Given the description of an element on the screen output the (x, y) to click on. 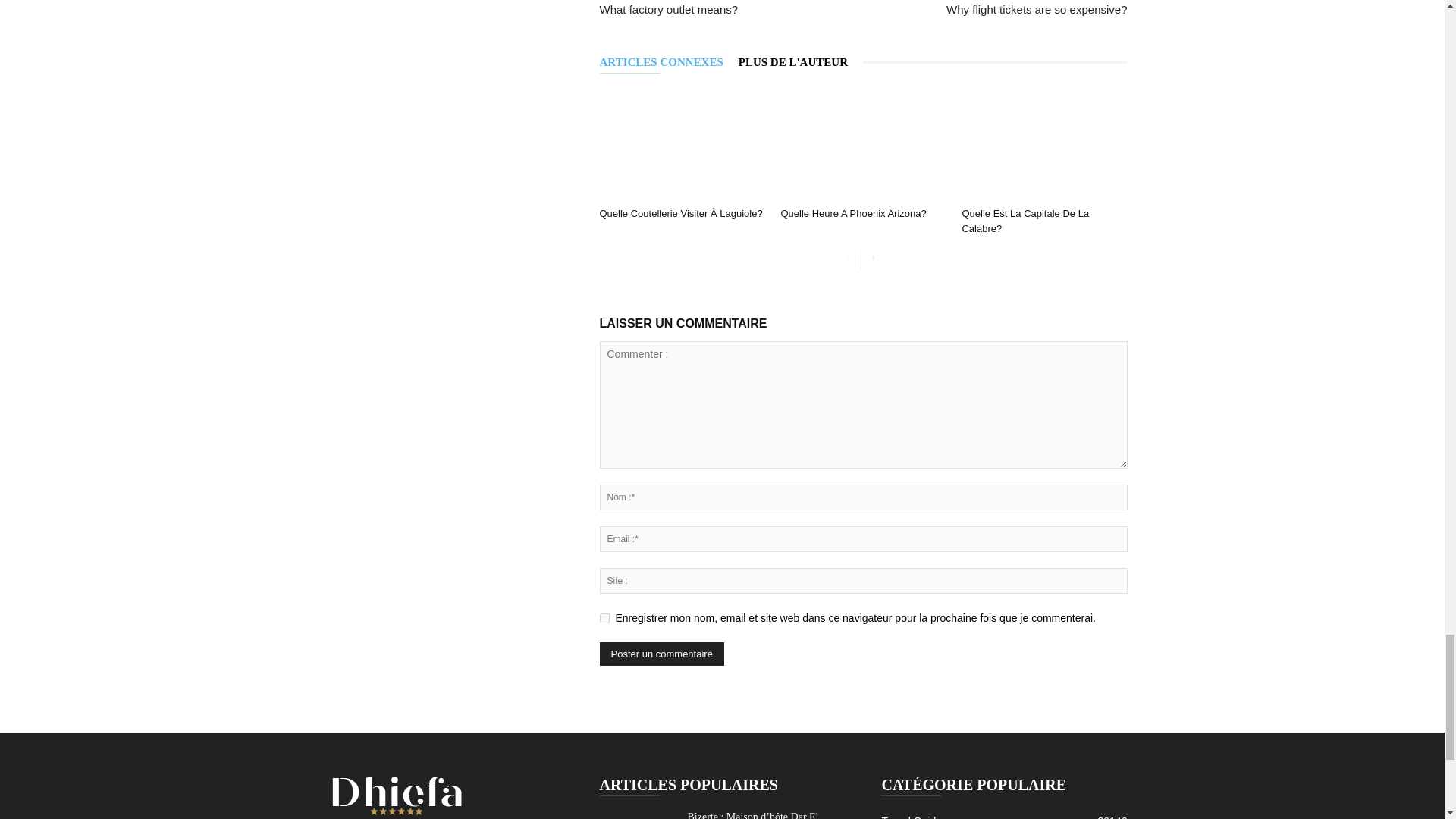
yes (603, 618)
Poster un commentaire (660, 653)
